Given the description of an element on the screen output the (x, y) to click on. 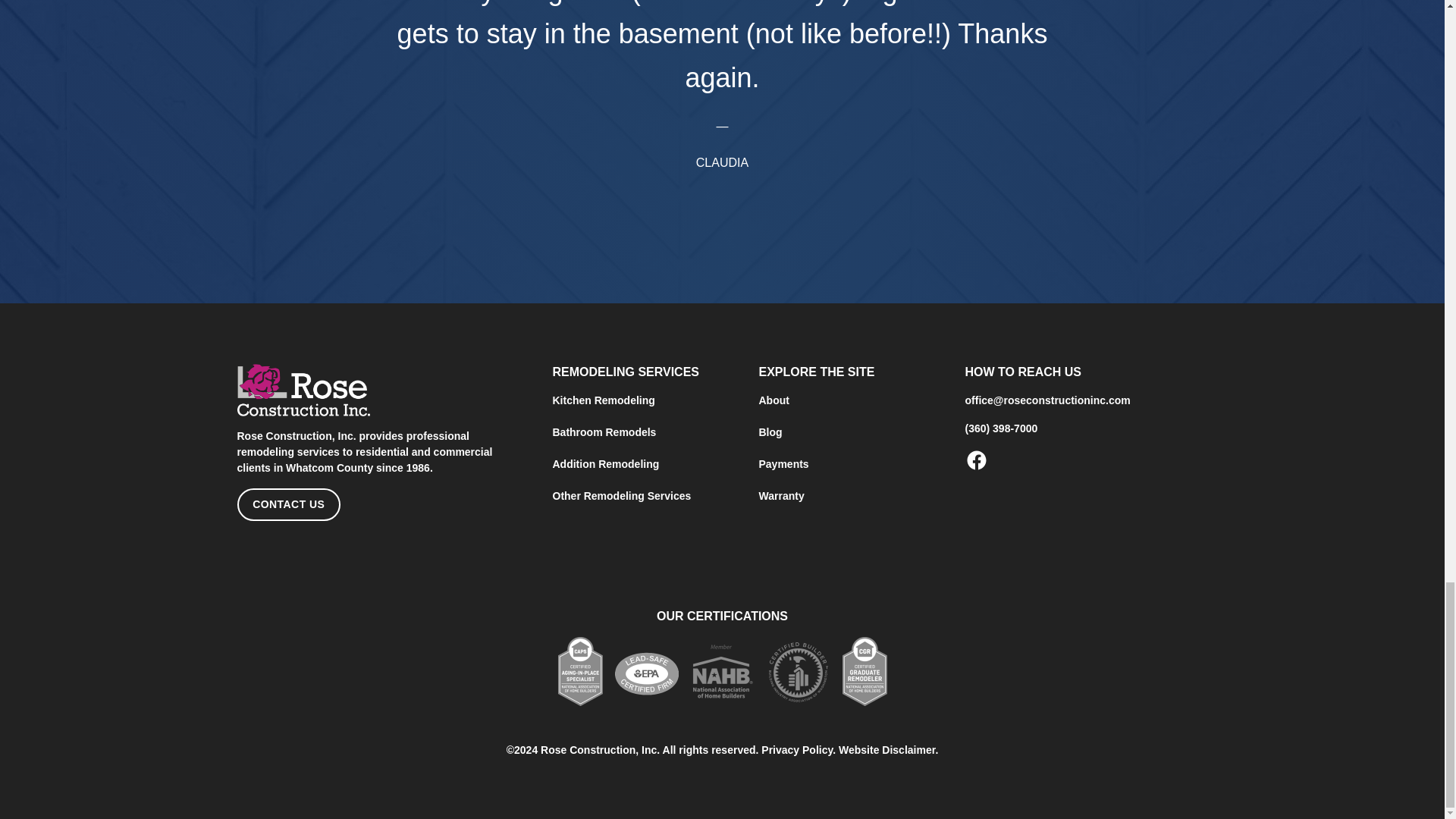
Kitchen Remodeling (602, 400)
CONTACT US (287, 504)
Bathroom Remodels (603, 432)
